Given the description of an element on the screen output the (x, y) to click on. 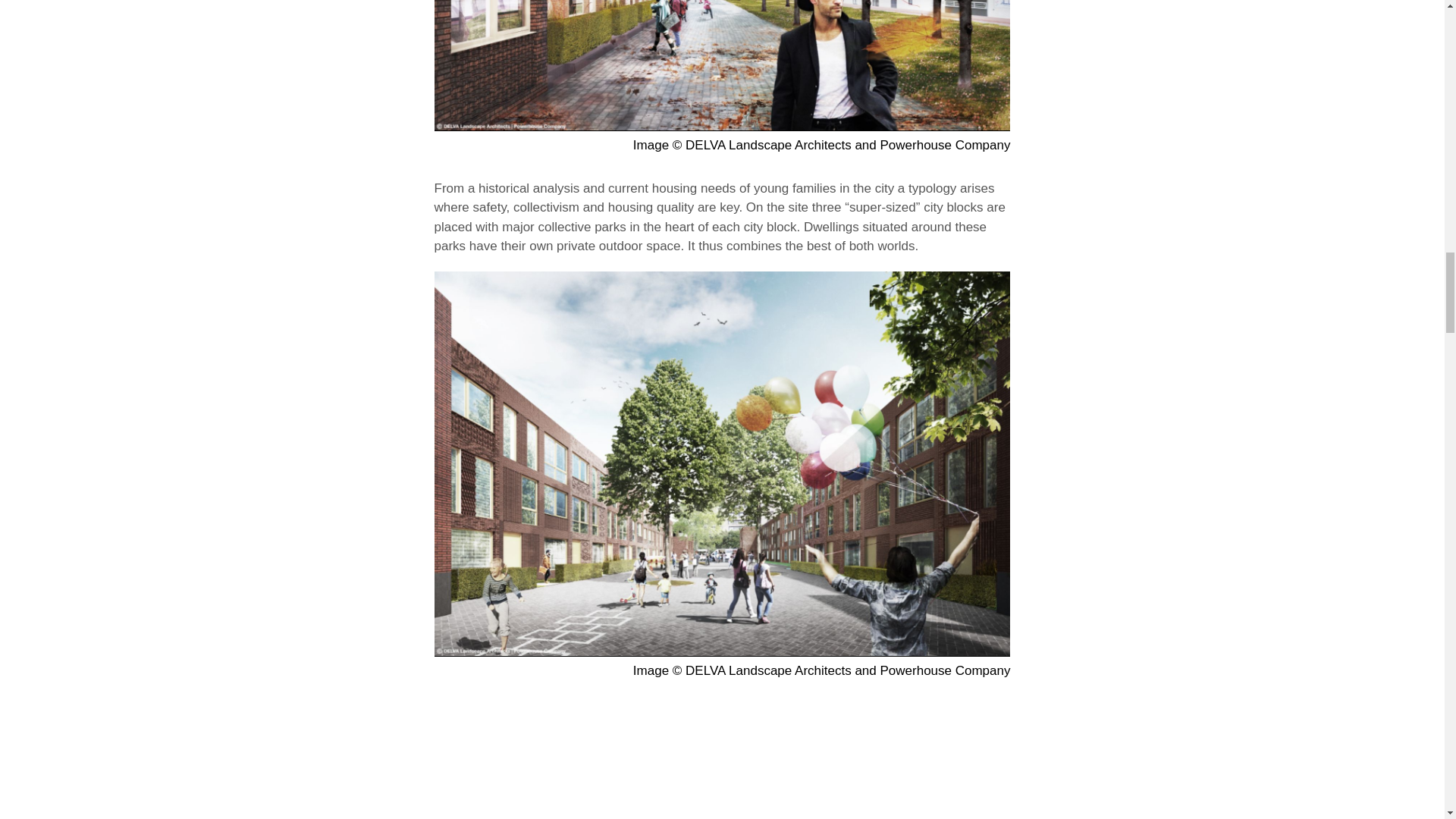
Advertisement (721, 757)
